Given the description of an element on the screen output the (x, y) to click on. 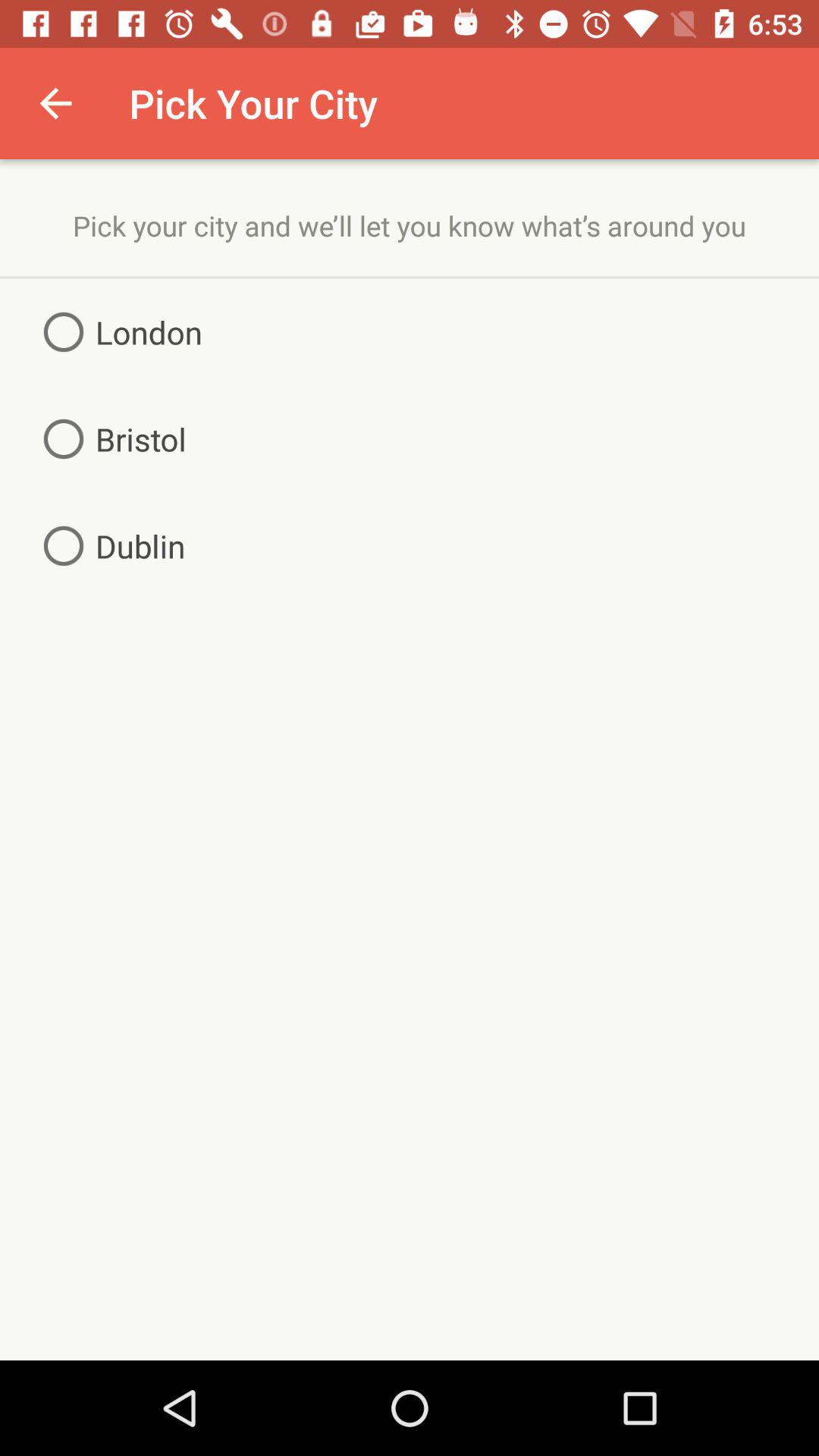
click item next to  pick your city item (55, 103)
